Given the description of an element on the screen output the (x, y) to click on. 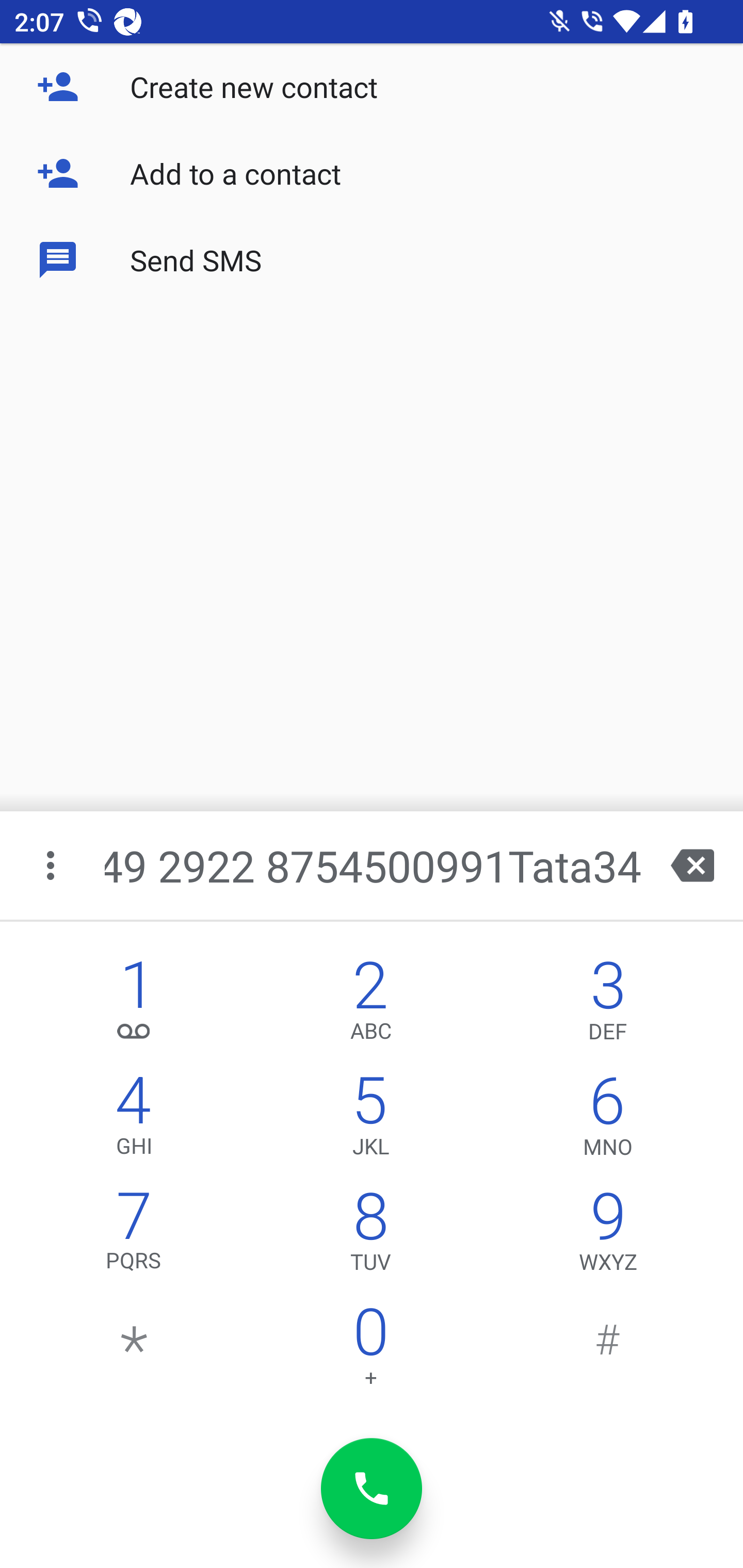
Create new contact (371, 86)
Add to a contact (371, 173)
Send SMS (371, 259)
+49 2922 8754500991Tata34 (372, 865)
backspace (692, 865)
More options (52, 865)
1, 1 (133, 1005)
2,ABC 2 ABC (370, 1005)
3,DEF 3 DEF (607, 1005)
4,GHI 4 GHI (133, 1120)
5,JKL 5 JKL (370, 1120)
6,MNO 6 MNO (607, 1120)
7,PQRS 7 PQRS (133, 1235)
8,TUV 8 TUV (370, 1235)
9,WXYZ 9 WXYZ (607, 1235)
* (133, 1351)
0 0 + (370, 1351)
# (607, 1351)
dial (371, 1488)
